Given the description of an element on the screen output the (x, y) to click on. 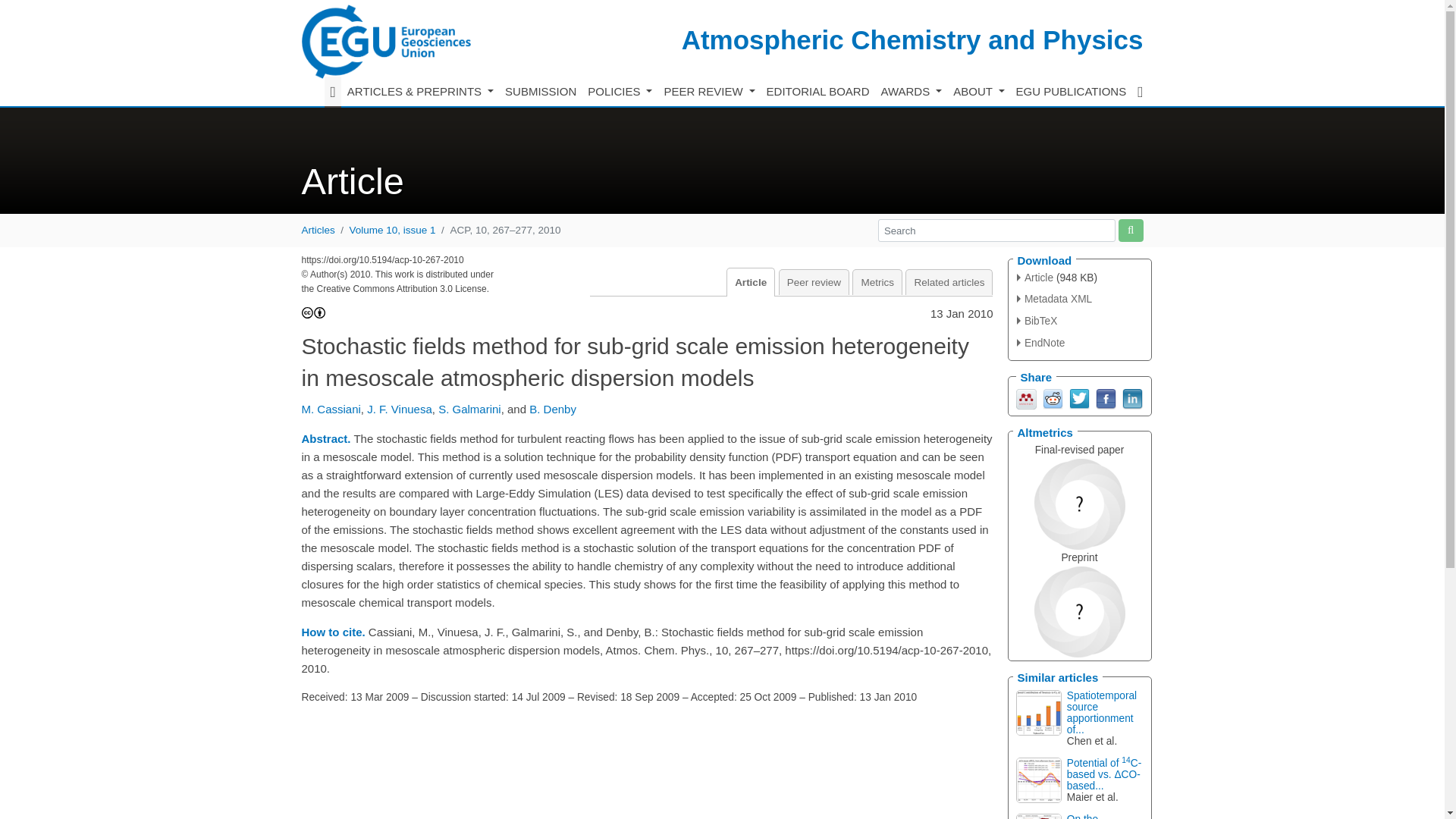
Mendeley (1026, 397)
Facebook (1104, 397)
SUBMISSION (540, 91)
POLICIES (620, 91)
XML Version (1054, 298)
Atmospheric Chemistry and Physics (911, 39)
Reddit (1052, 397)
Twitter (1078, 397)
Start site search (1130, 229)
